Given the description of an element on the screen output the (x, y) to click on. 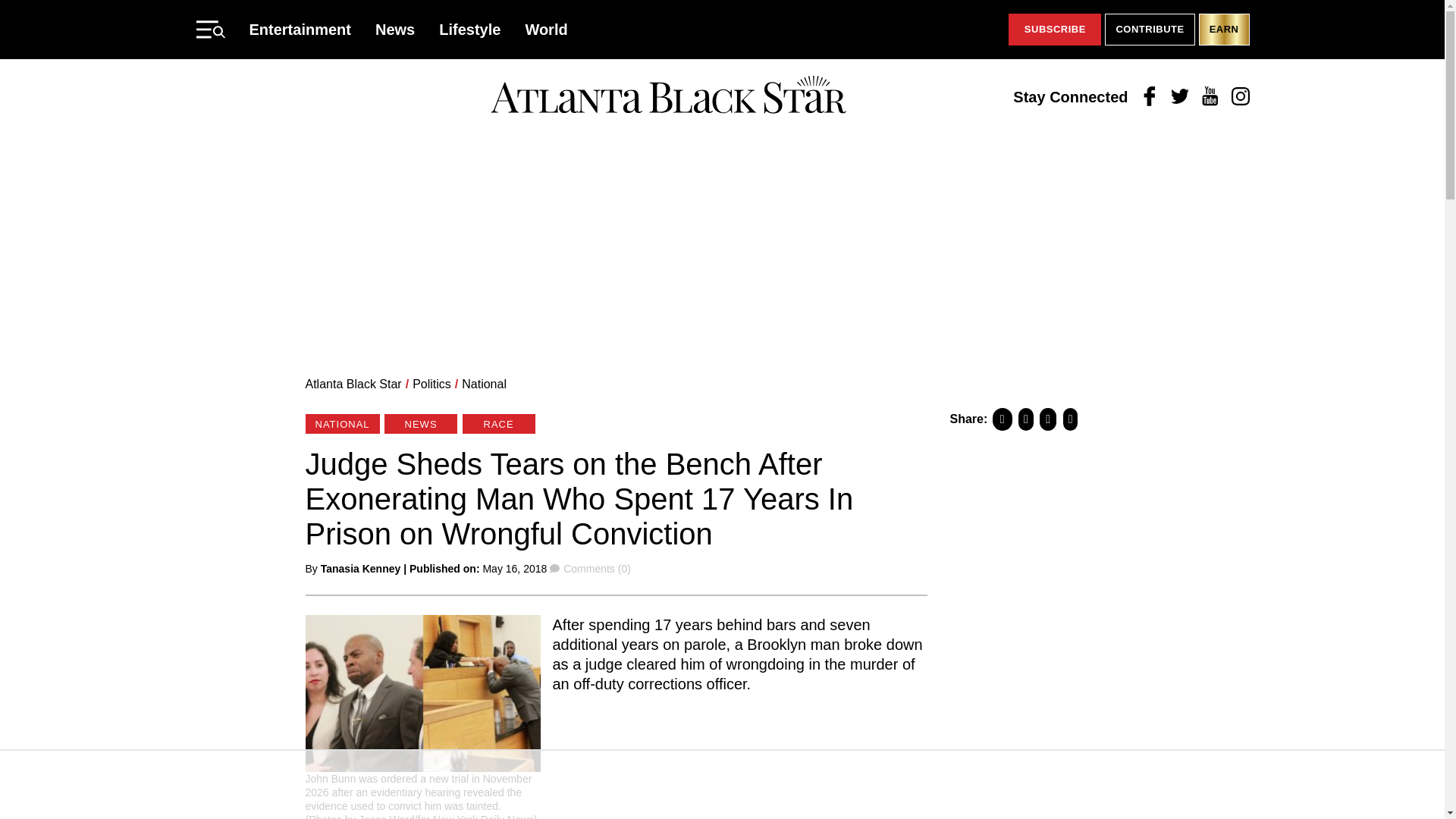
Politics (431, 383)
Atlanta Black Star (667, 96)
Go to Atlanta Black Star. (352, 383)
Go to the Politics Category archives. (431, 383)
News (394, 29)
Entertainment (299, 29)
CONTRIBUTE (1149, 29)
World (545, 29)
Go to the National Category archives. (483, 383)
EARN (1223, 29)
SUBSCRIBE (1054, 29)
